Given the description of an element on the screen output the (x, y) to click on. 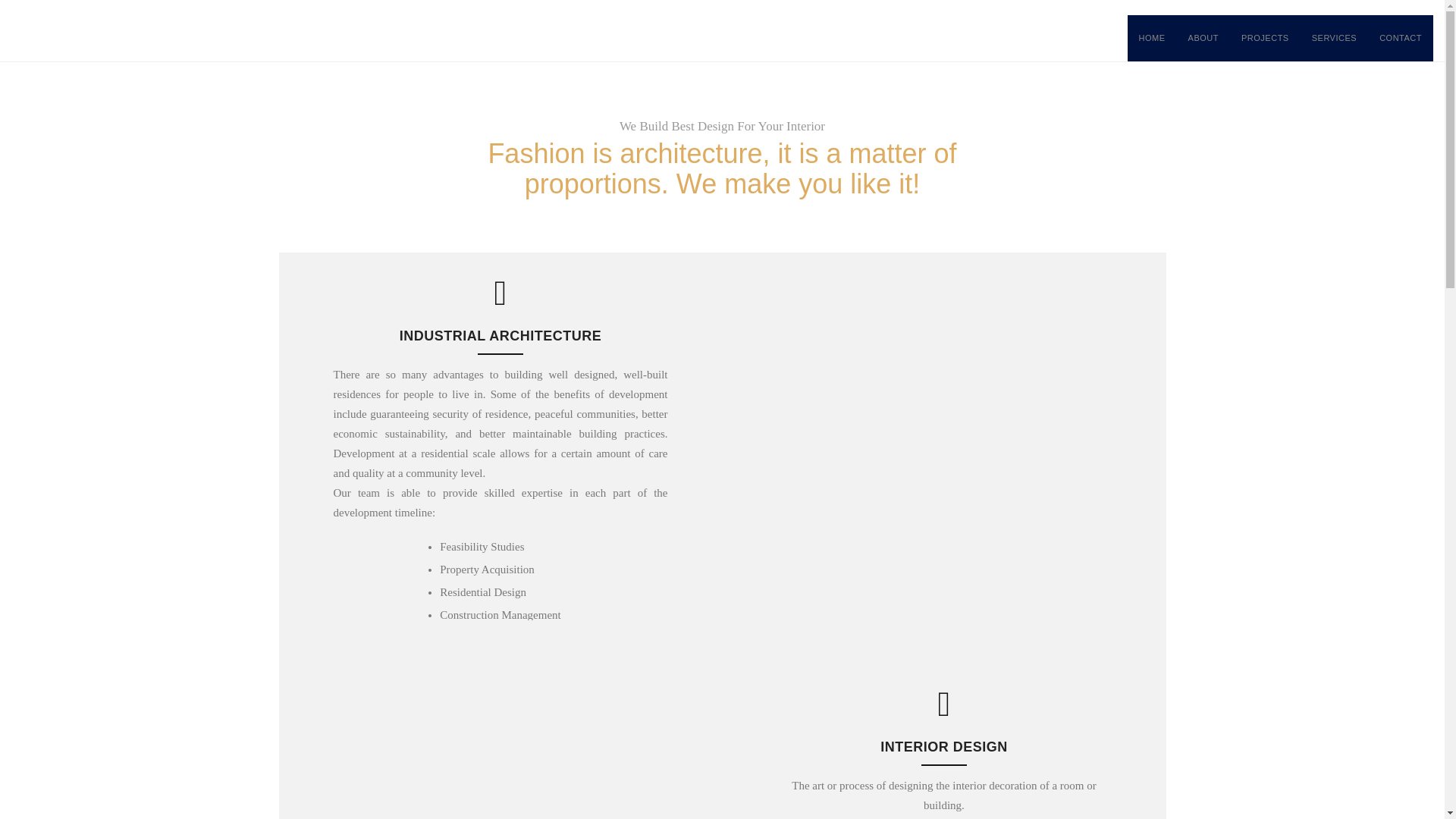
HOME (1151, 38)
CONTACT (1400, 38)
SERVICES (1334, 38)
PROJECTS (1265, 38)
ABOUT (1203, 38)
